Given the description of an element on the screen output the (x, y) to click on. 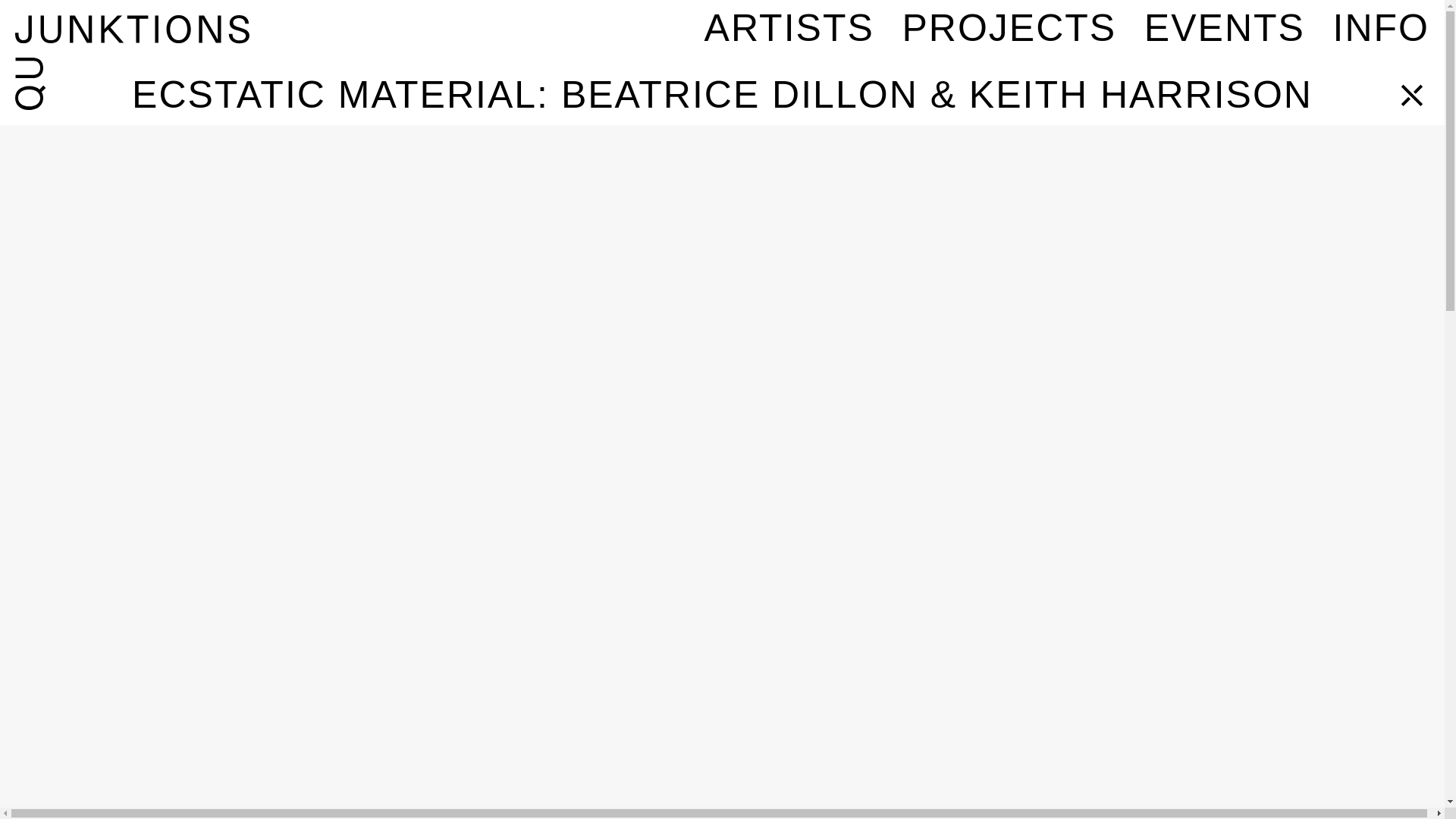
ARTISTS (789, 27)
PROJECTS (1008, 27)
INFO (1381, 27)
EVENTS (1224, 27)
